Given the description of an element on the screen output the (x, y) to click on. 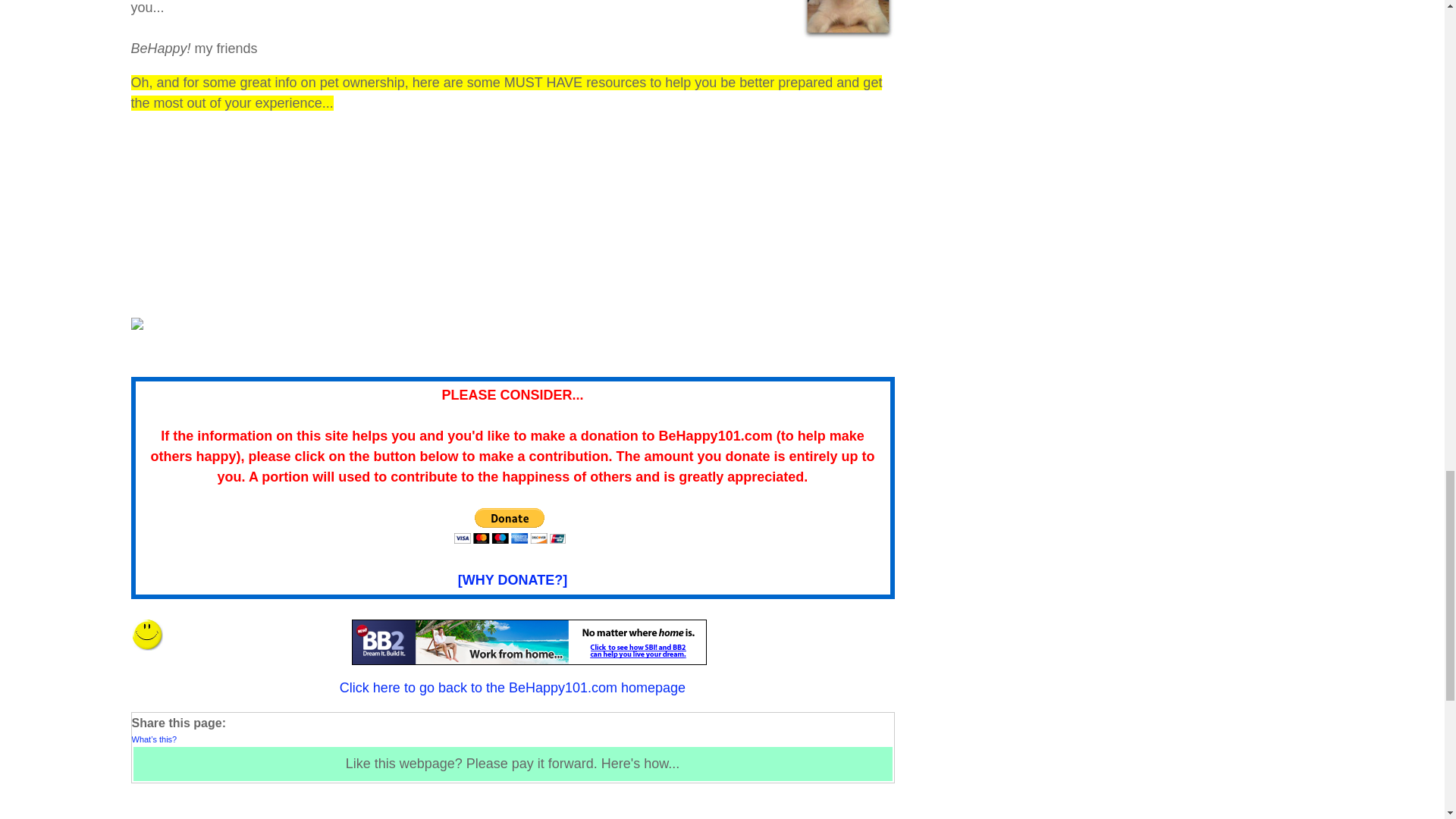
Click here to go back to the BeHappy101.com homepage (512, 687)
